Given the description of an element on the screen output the (x, y) to click on. 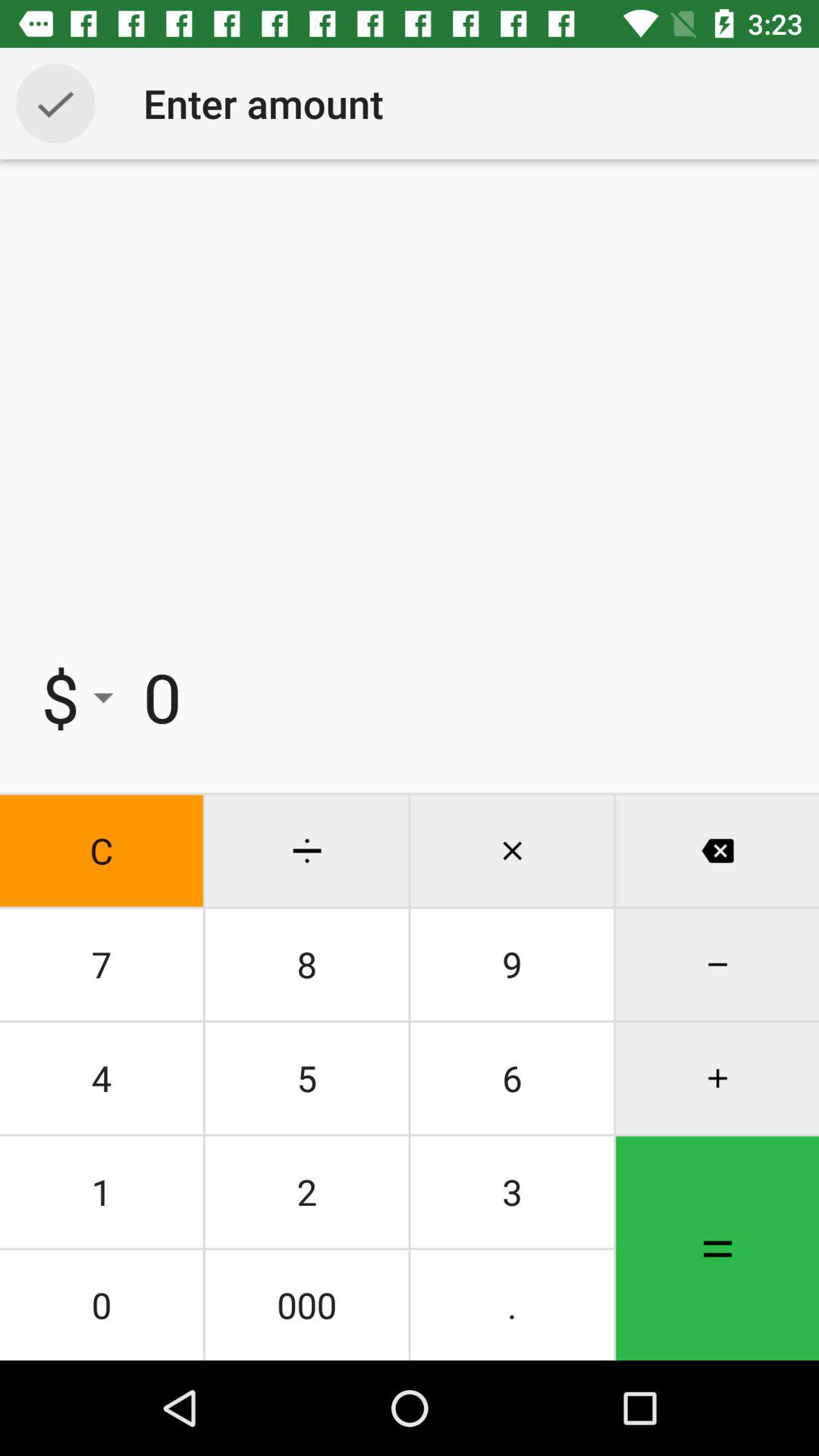
turn on the icon below 8 (511, 1078)
